Given the description of an element on the screen output the (x, y) to click on. 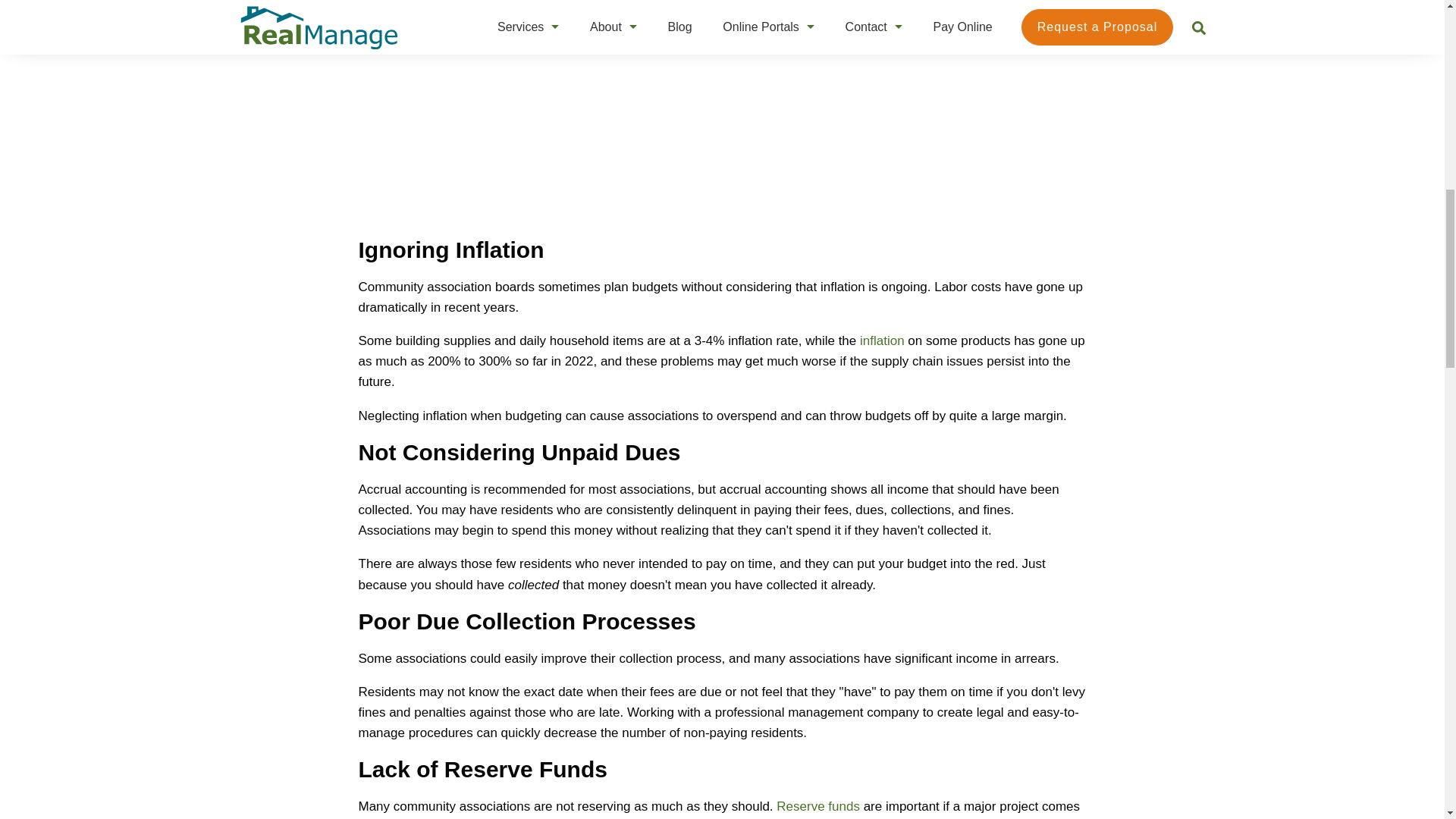
Reserve funds (818, 806)
inflation (882, 340)
